Given the description of an element on the screen output the (x, y) to click on. 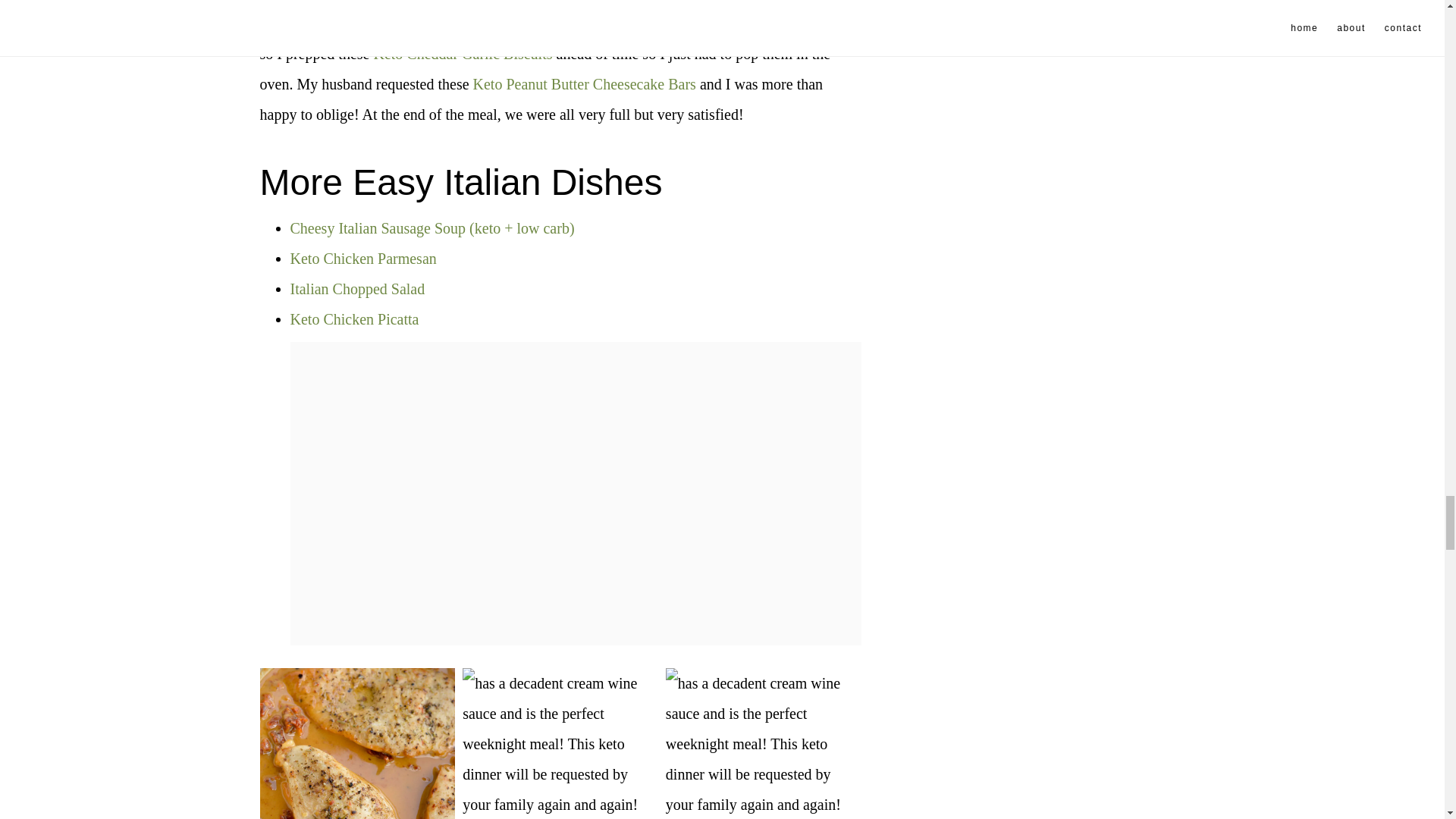
Keto Peanut Butter Cheesecake Bars (584, 84)
Easy Wedge Salad (501, 23)
Keto Chicken Parmesan (362, 258)
Keto Cheddar Garlic Biscuits (461, 53)
Italian Chopped Salad (357, 288)
Keto Chicken Picatta (354, 319)
